Given the description of an element on the screen output the (x, y) to click on. 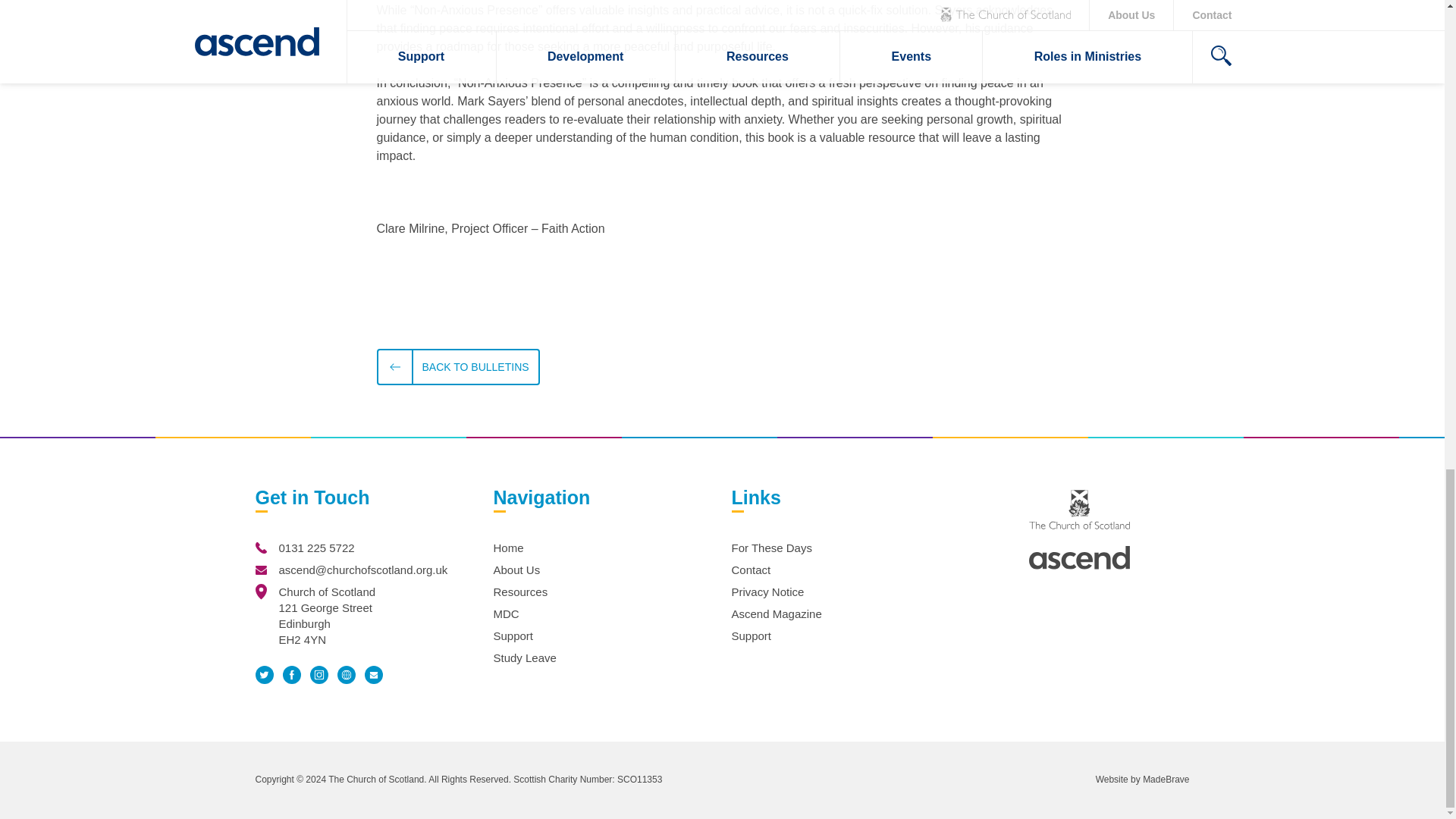
Instagram (318, 675)
0131 225 5722 (317, 548)
Email (373, 674)
Ascend Logo (1079, 557)
Call us (260, 547)
Home (507, 548)
Church of Scotland (1079, 509)
BACK TO BULLETINS (456, 366)
church-of-scotland-learning.circle.so (345, 675)
About Us (516, 570)
Twitter (264, 674)
Email us (260, 569)
